Given the description of an element on the screen output the (x, y) to click on. 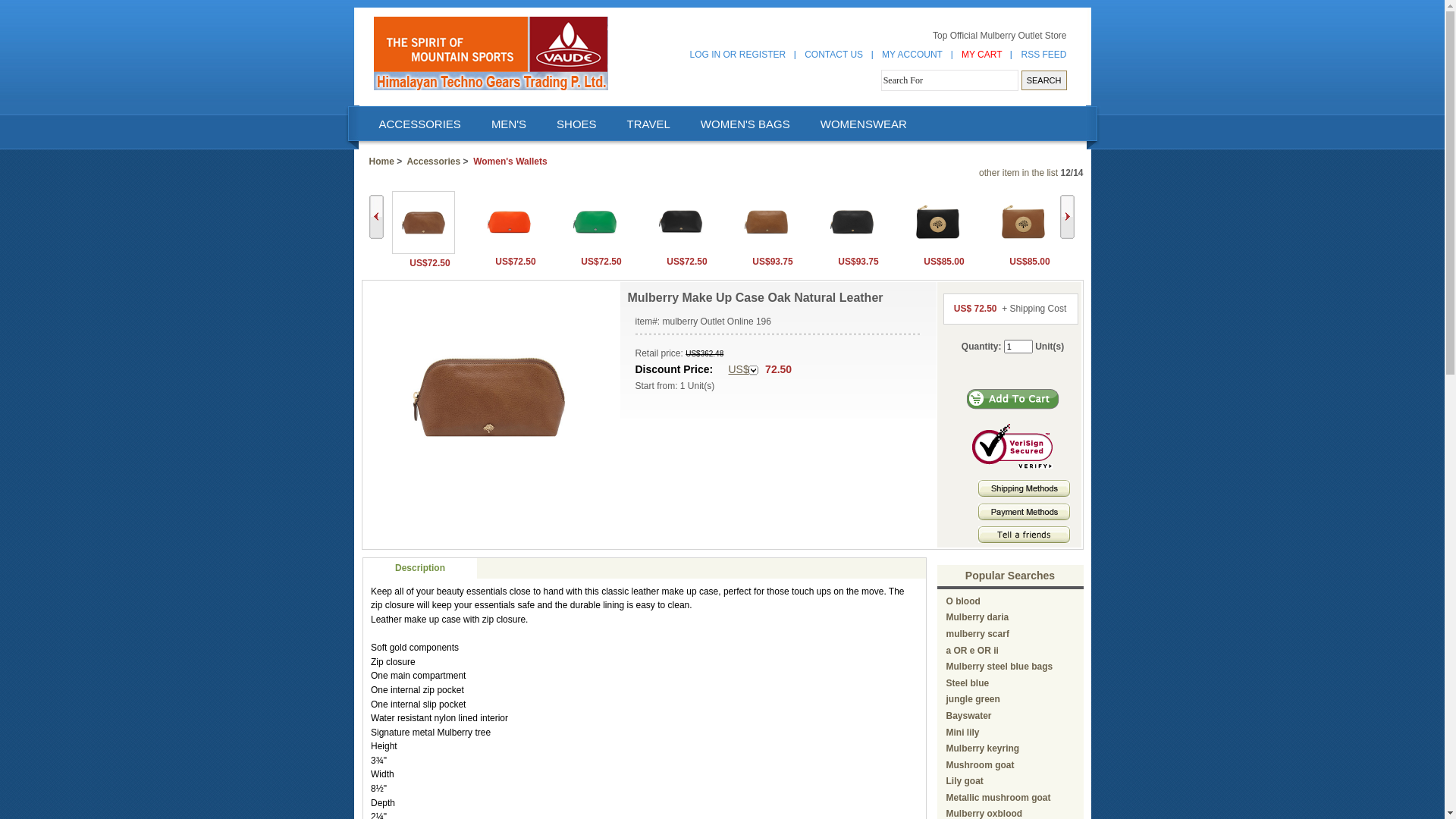
RSS FEED Element type: text (1043, 54)
Next Element type: hover (1067, 216)
US$ Element type: text (742, 369)
Mulberry Daria Pouch Black Spongy Pebbled Element type: hover (937, 249)
O blood Element type: text (963, 601)
Mulberry Make Up Case Black Calf Nappa Element type: hover (679, 249)
Mulberry Make Up Case Oak Natural Leather Element type: hover (422, 222)
a OR e OR ii Element type: text (972, 650)
Mulberry Large Make Up Case Black Small Classic Grain Element type: hover (850, 221)
Mulberry Daria Pouch Oak Spongy Pebbled Element type: hover (1022, 249)
 Shipping Methods  Element type: hover (1024, 488)
Mulberry steel blue bags Element type: text (999, 666)
Mini lily Element type: text (962, 731)
Shipping Methods Element type: hover (1024, 493)
other item in the list Element type: text (1018, 172)
WOMENSWEAR Element type: text (863, 123)
 Mulberry Make Up Case Oak Natural Leather  Element type: hover (489, 396)
Mulberry Daria Pouch Oak Spongy Pebbled Element type: hover (1022, 221)
SHOES Element type: text (576, 123)
Mulberry daria Element type: text (977, 616)
Mulberry Make Up Case Mandarin Calf Nappa Element type: hover (508, 249)
Mulberry Large Make Up Case Oak Natural Leather Element type: hover (766, 249)
Back Element type: hover (375, 216)
Mulberry Large Make Up Case Oak Natural Leather Element type: hover (766, 221)
MY CART Element type: text (981, 54)
CONTACT US Element type: text (833, 54)
Accessories Element type: text (433, 161)
Metallic mushroom goat Element type: text (998, 797)
 Payment Methods  Element type: hover (1024, 511)
Home Element type: text (380, 161)
LOG IN OR REGISTER Element type: text (738, 54)
Mulberry Large Make Up Case Black Small Classic Grain Element type: hover (850, 249)
Steel blue Element type: text (967, 682)
ACCESSORIES Element type: text (418, 123)
Lily goat Element type: text (964, 780)
Mushroom goat Element type: text (980, 764)
Mulberry Make Up Case Jungle Green Calf Nappa Element type: hover (594, 221)
Mulberry Daria Pouch Black Spongy Pebbled Element type: hover (937, 221)
SEARCH Element type: text (1043, 80)
jungle green Element type: text (973, 698)
 mulberry outlet online  Element type: hover (490, 53)
Mulberry Make Up Case Black Calf Nappa Element type: hover (679, 221)
Popular Searches Element type: text (1009, 575)
MEN'S Element type: text (508, 123)
TRAVEL Element type: text (647, 123)
Women's Wallets Element type: text (510, 161)
WOMEN'S BAGS Element type: text (744, 123)
Payment methods Element type: hover (1024, 516)
Mulberry Make Up Case Mandarin Calf Nappa Element type: hover (508, 221)
Bayswater Element type: text (968, 715)
Mulberry Make Up Case Oak Natural Leather Element type: hover (422, 250)
 Tell A Friends  Element type: hover (1024, 534)
mulberry scarf Element type: text (977, 633)
Mulberry keyring Element type: text (982, 748)
Add to Cart Element type: hover (1012, 399)
MY ACCOUNT Element type: text (911, 54)
Mulberry Make Up Case Jungle Green Calf Nappa Element type: hover (594, 249)
